Given the description of an element on the screen output the (x, y) to click on. 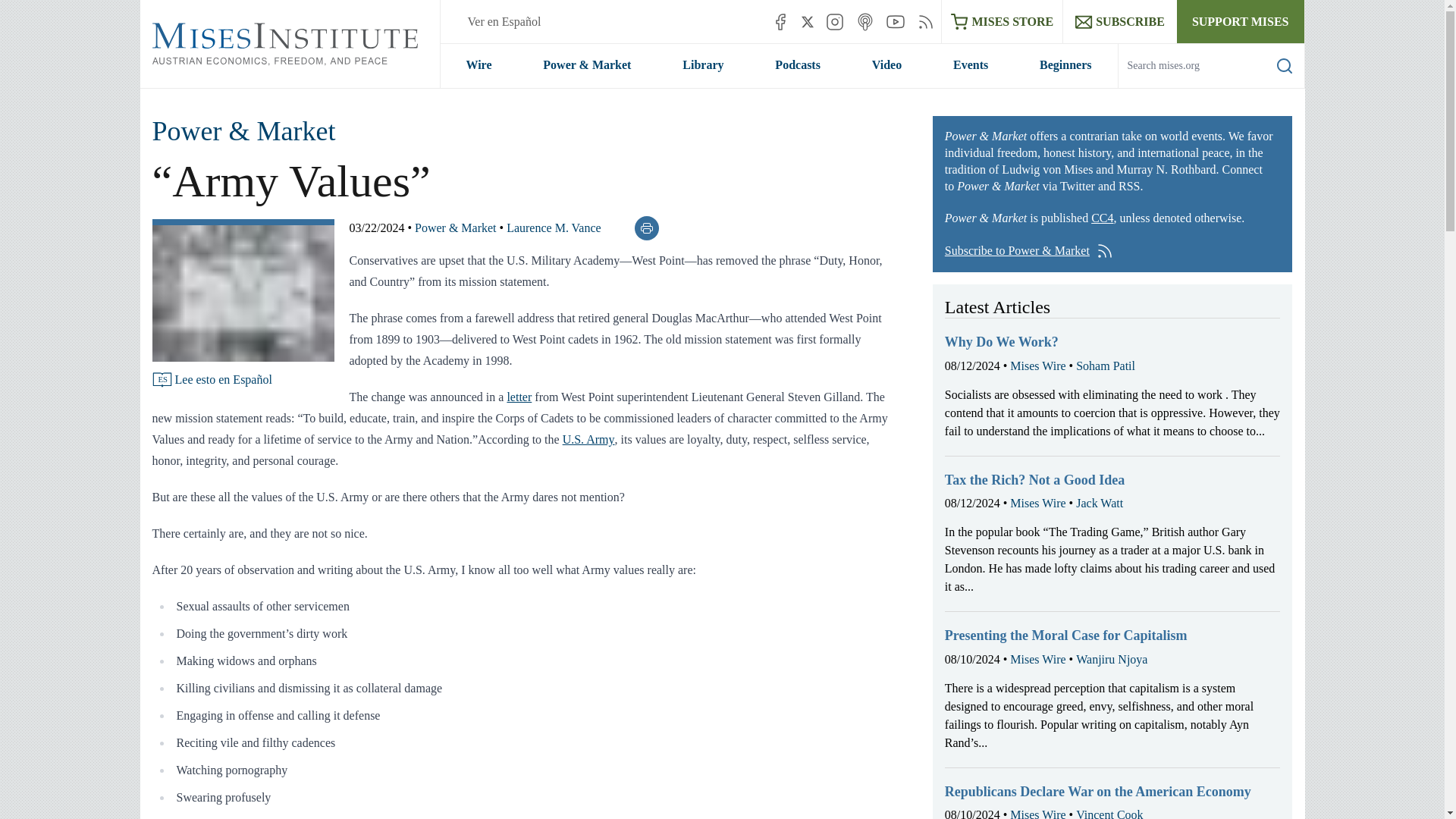
MISES STORE (1002, 21)
Beginners (1064, 65)
Mises RSS feed (925, 21)
Mises itunes (865, 21)
Submit (1272, 87)
SUBSCRIBE (1119, 21)
Video (886, 65)
SUPPORT MISES (1240, 21)
Mises Youtube (895, 21)
Mises Facebook (780, 21)
